Given the description of an element on the screen output the (x, y) to click on. 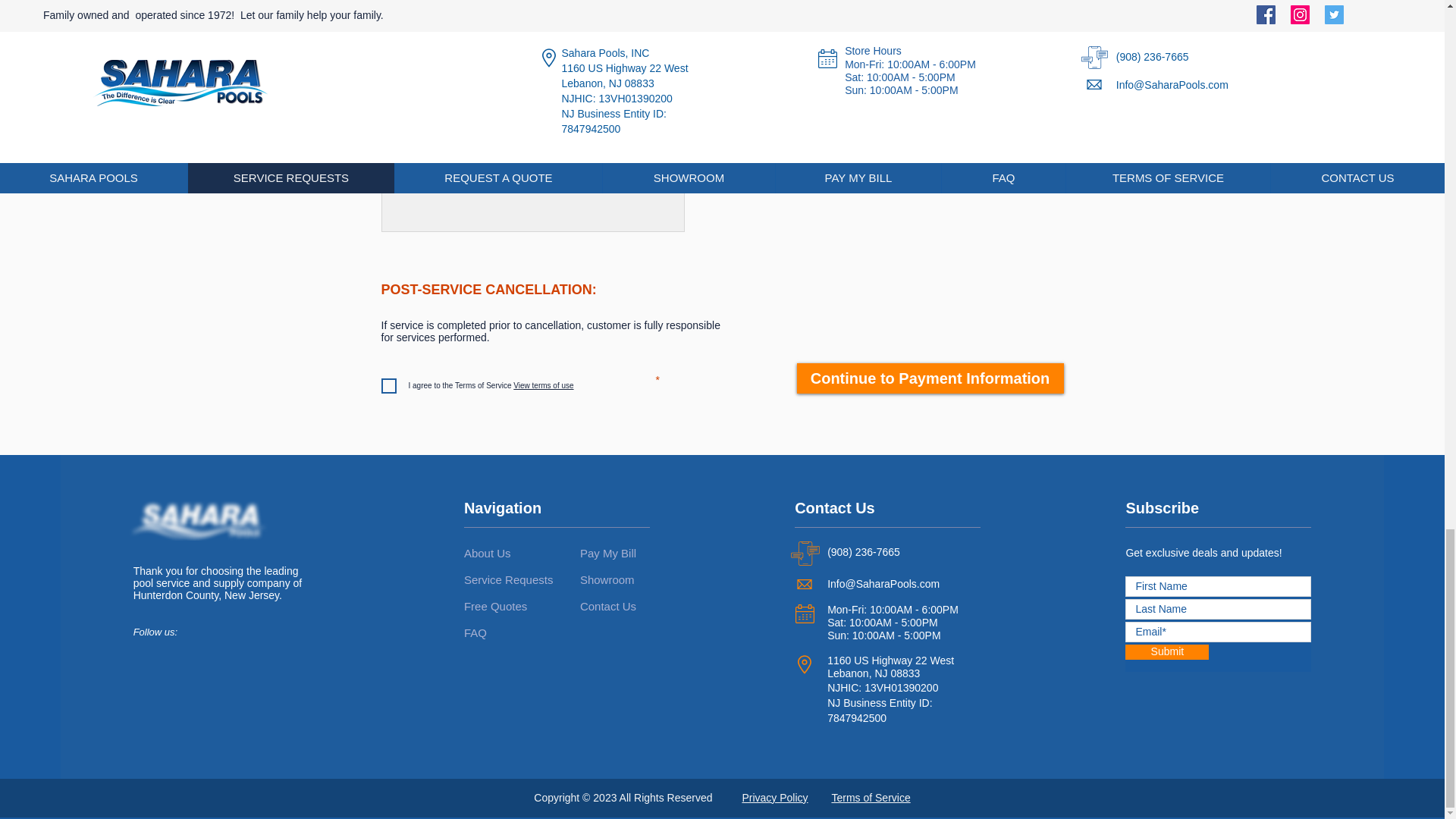
View terms of use (542, 384)
Showroom (606, 579)
Free Quotes (495, 605)
Pay My Bill (607, 552)
Service Requests (508, 579)
Continue to Payment Information (929, 377)
About Us (491, 552)
